Given the description of an element on the screen output the (x, y) to click on. 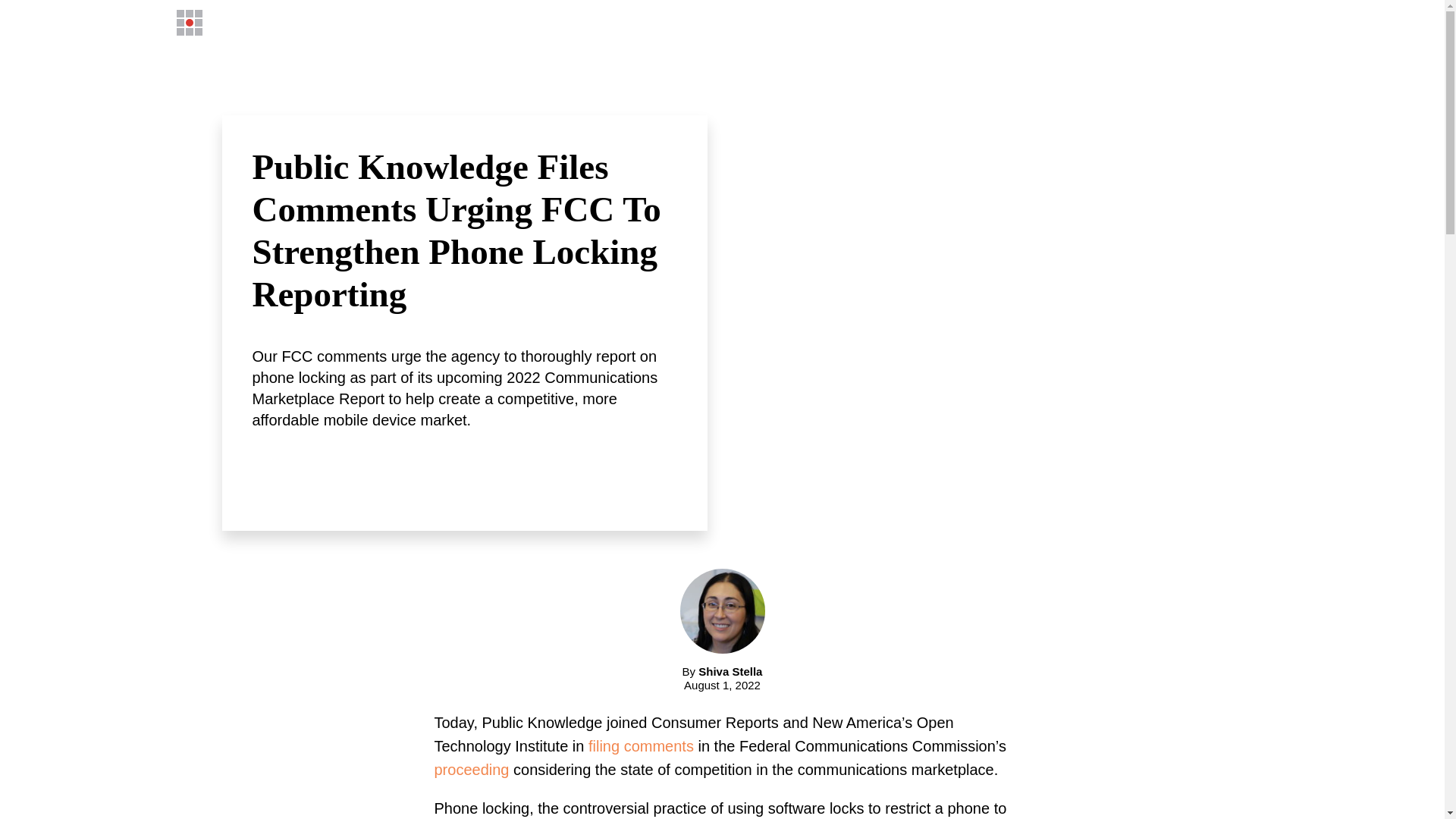
Subscribe (1187, 22)
Sherwin Lee Siy Memorial Fund (984, 22)
Sherwin Lee Siy Memorial Fund (984, 22)
Subscribe (1187, 22)
Public Knowledge (270, 22)
filing comments (641, 745)
proceeding (470, 769)
Donate (1117, 22)
Donate (1117, 22)
